Given the description of an element on the screen output the (x, y) to click on. 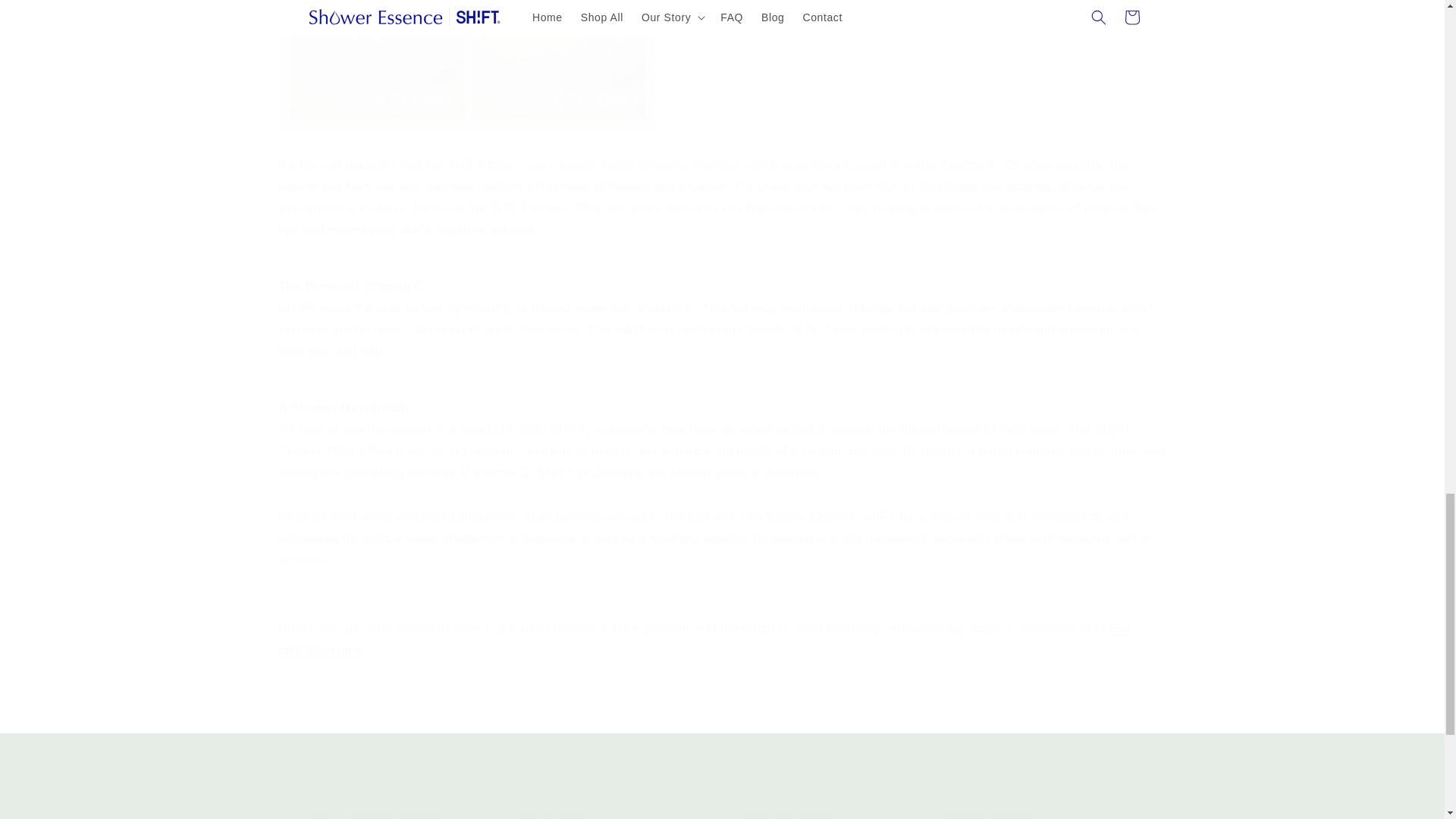
Full collection here (705, 638)
Full Collection (705, 638)
Back to blog (722, 711)
Back to blog (826, 812)
